Given the description of an element on the screen output the (x, y) to click on. 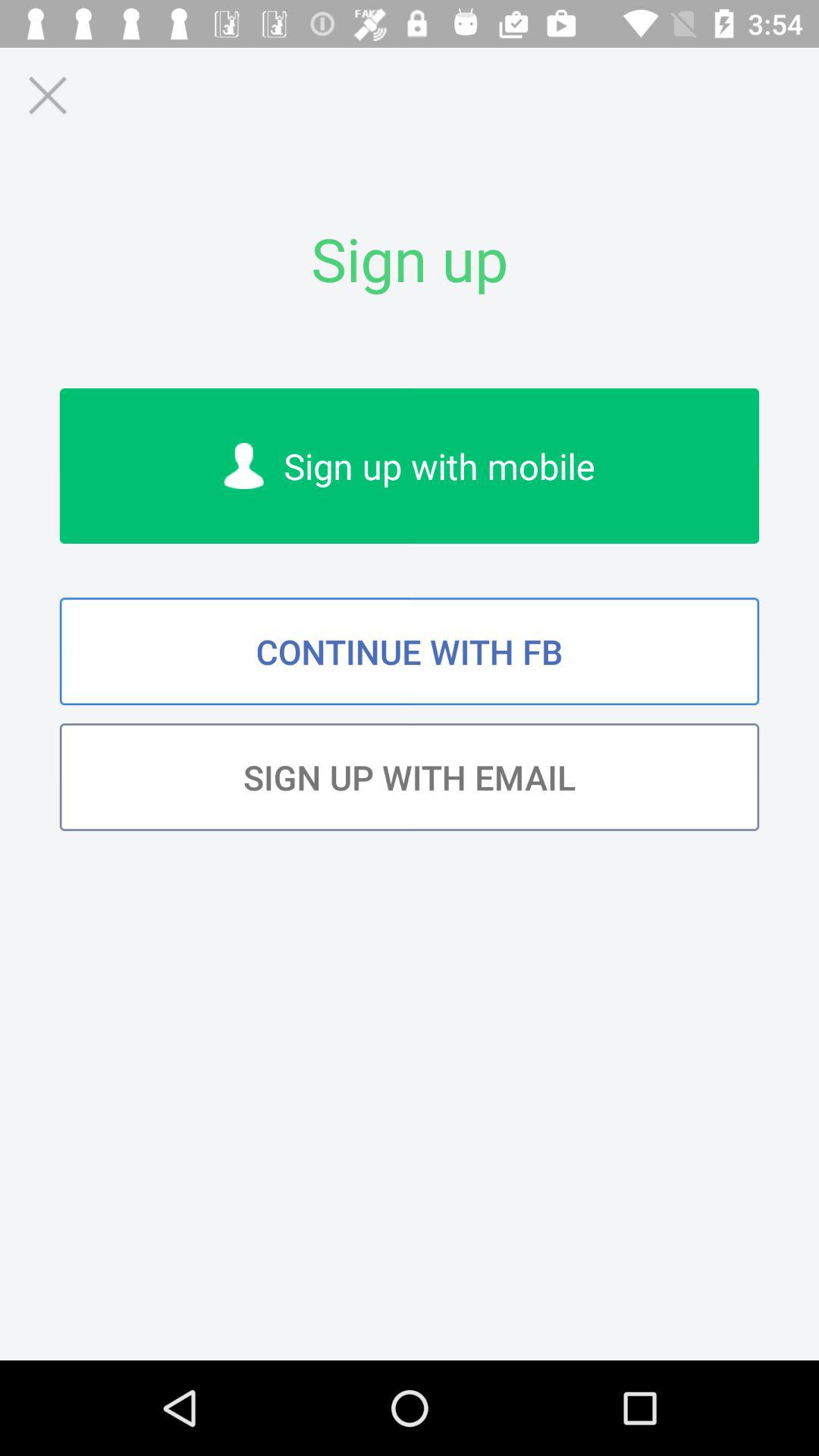
swipe until continue with fb icon (409, 651)
